Given the description of an element on the screen output the (x, y) to click on. 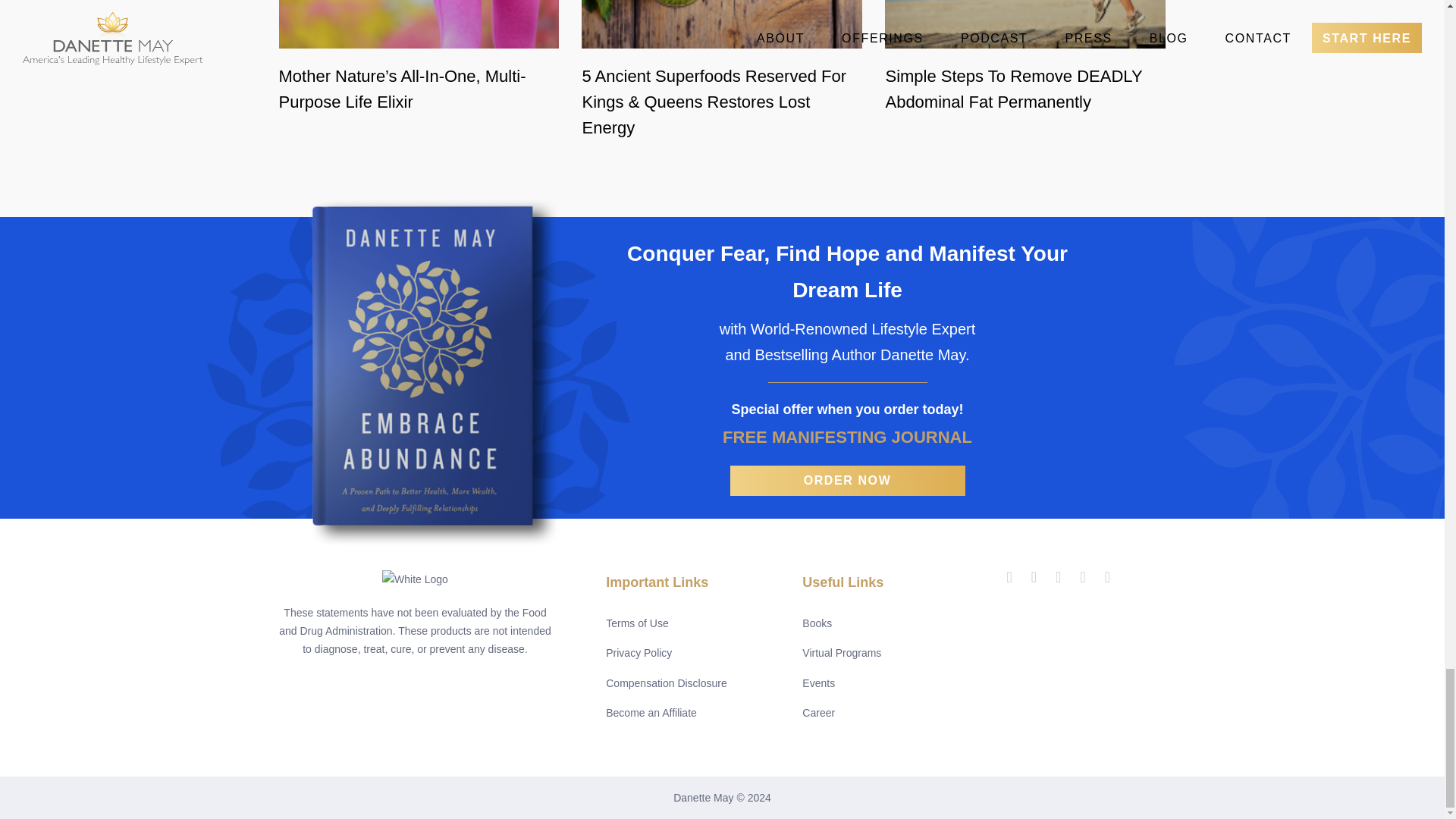
Simple Steps To Remove DEADLY Abdominal Fat Permanently (1025, 89)
